Given the description of an element on the screen output the (x, y) to click on. 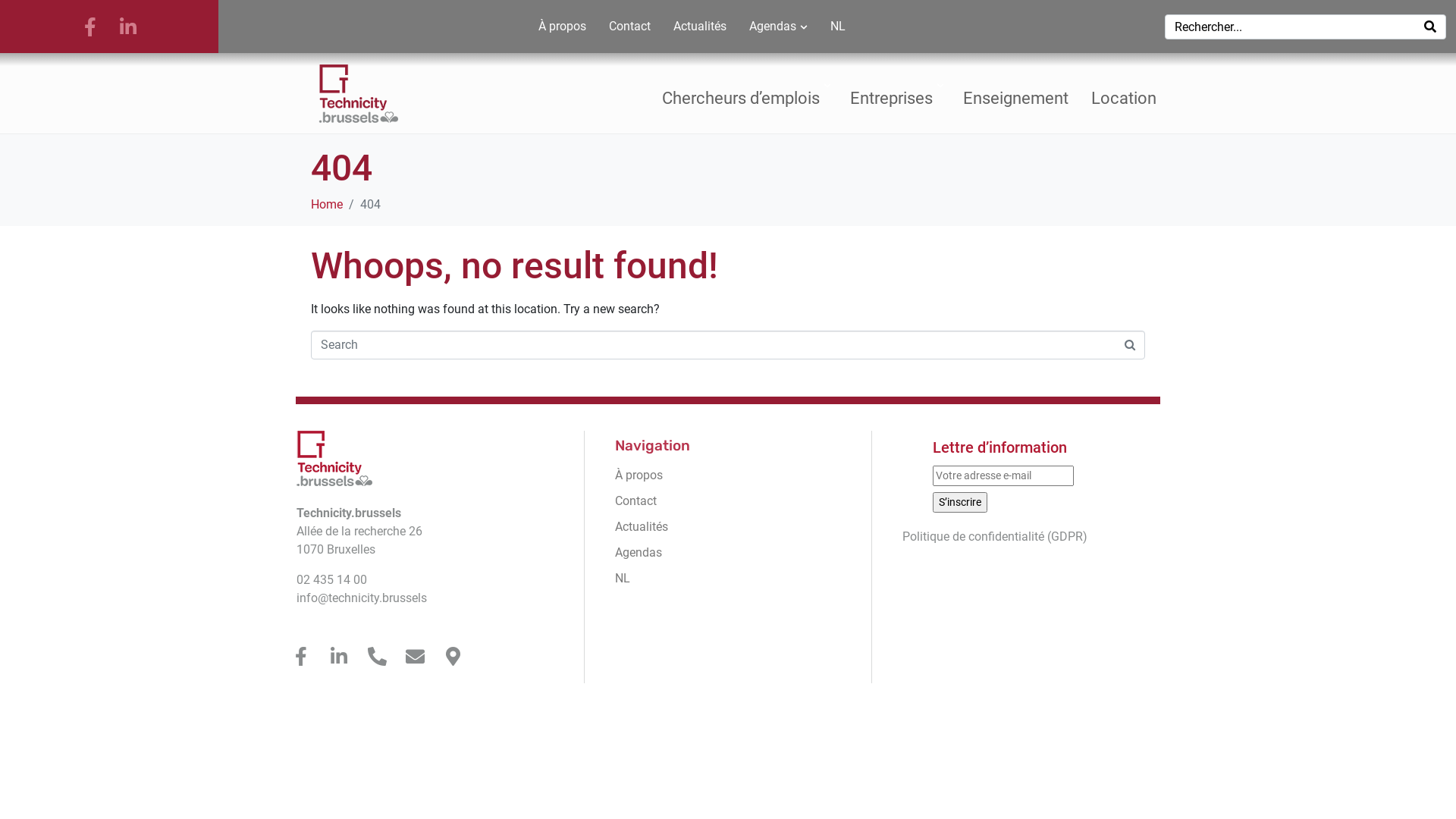
Entreprises Element type: text (895, 92)
Home Element type: text (326, 204)
Enseignement Element type: text (1015, 92)
NL Element type: text (727, 578)
info@technicity.brussels Element type: text (361, 597)
Location Element type: text (1123, 92)
Agendas Element type: text (727, 552)
Contact Element type: text (628, 26)
Contact Element type: text (727, 500)
1070 Bruxelles Element type: text (335, 549)
Agendas Element type: text (778, 26)
02 435 14 00 Element type: text (331, 579)
NL Element type: text (836, 26)
